Given the description of an element on the screen output the (x, y) to click on. 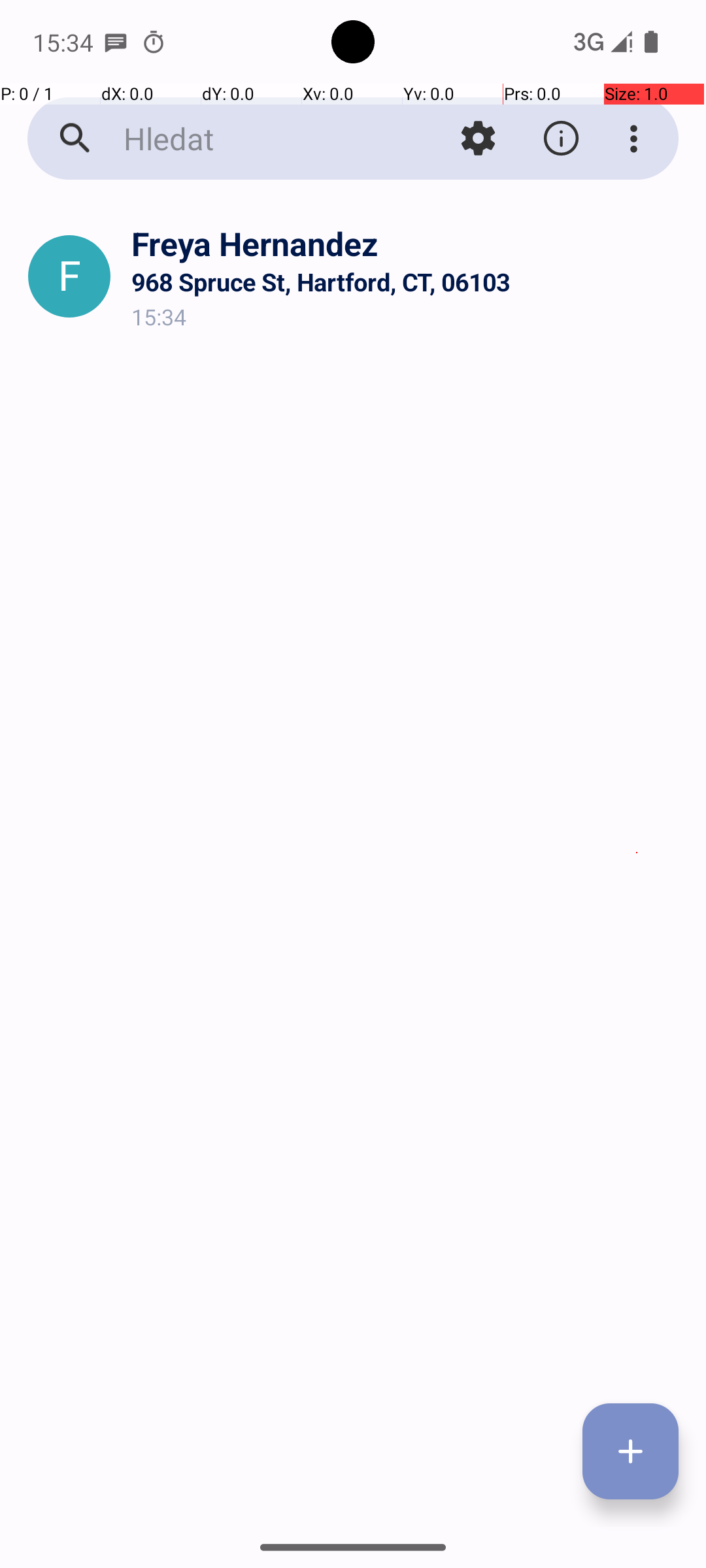
O aplikaci Element type: android.widget.Button (560, 138)
Freya Hernandez Element type: android.widget.TextView (408, 242)
968 Spruce St, Hartford, CT, 06103 Element type: android.widget.TextView (408, 281)
